Given the description of an element on the screen output the (x, y) to click on. 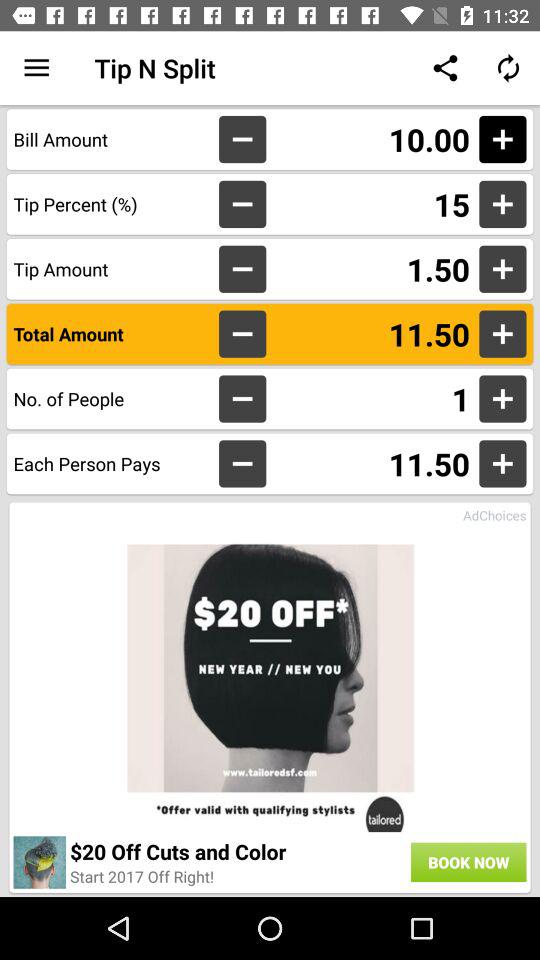
jump until the book now (468, 861)
